Given the description of an element on the screen output the (x, y) to click on. 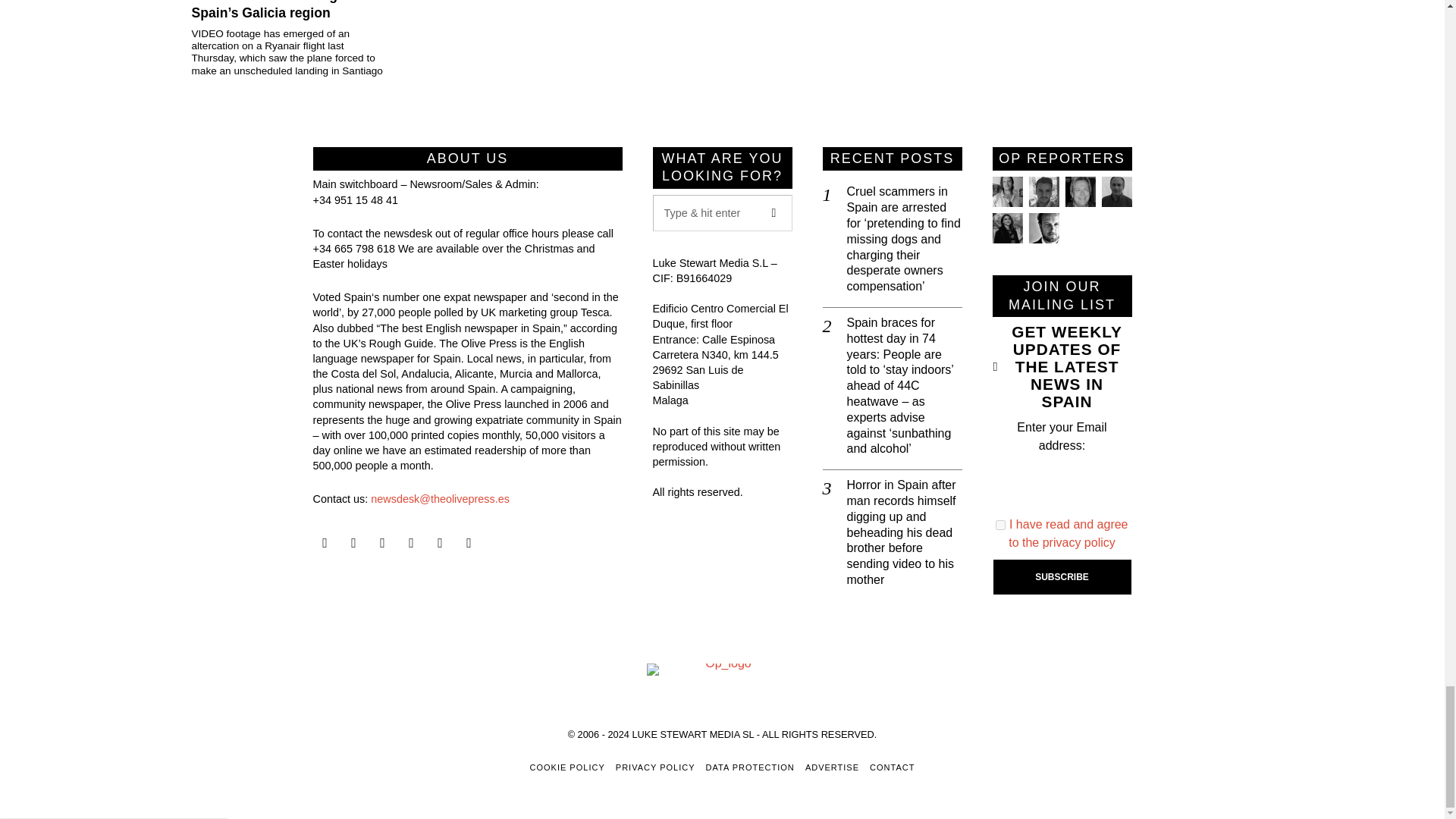
Yzabelle Bostyn (1006, 227)
1 (1000, 524)
Walter Finch (1042, 227)
Go (773, 212)
Laurence Dollimore (1042, 191)
Dilip Kuner (1115, 191)
SUBSCRIBE (1061, 576)
Alex Trelinski (1079, 191)
